Given the description of an element on the screen output the (x, y) to click on. 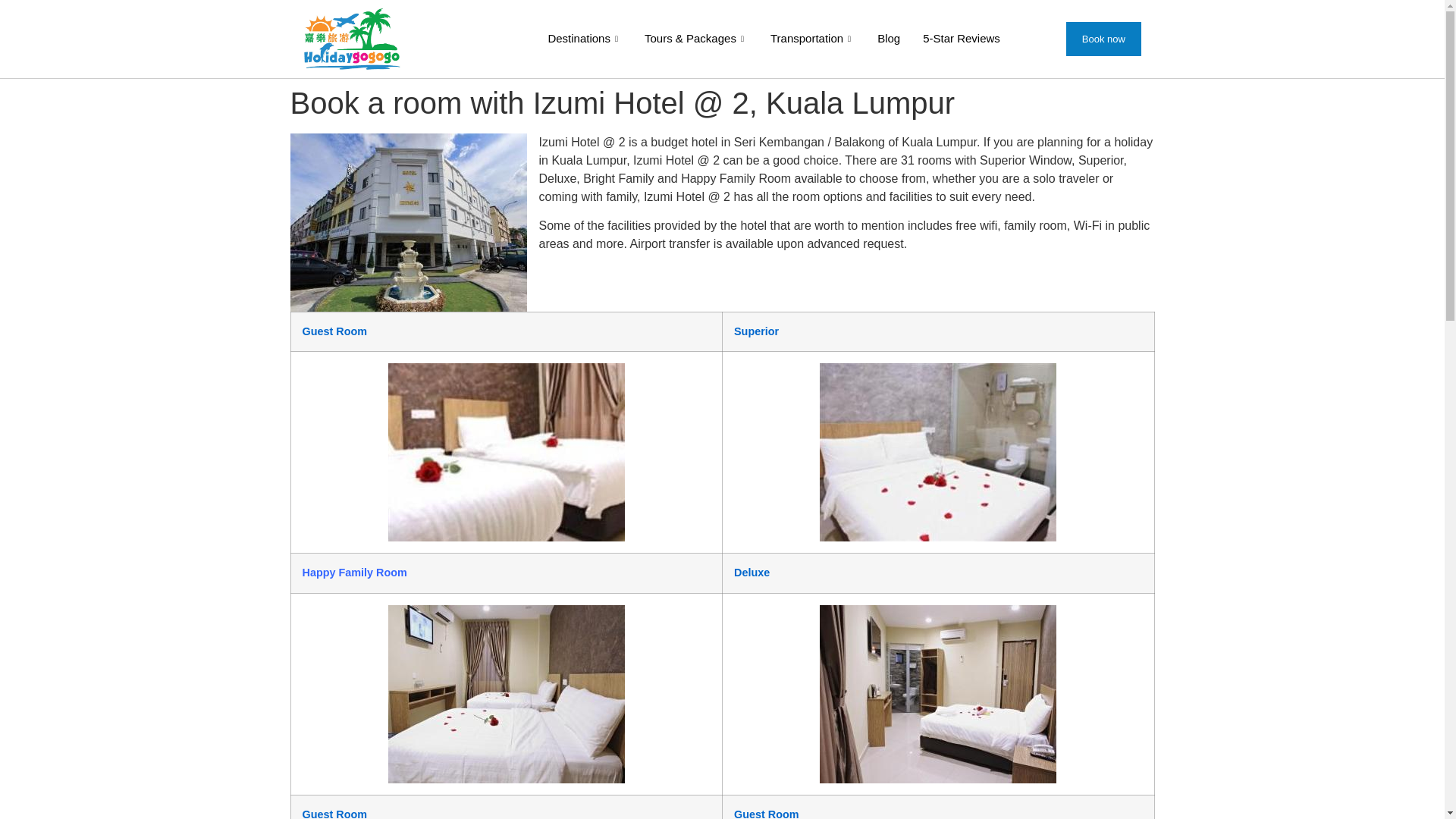
Destinations (584, 38)
